Given the description of an element on the screen output the (x, y) to click on. 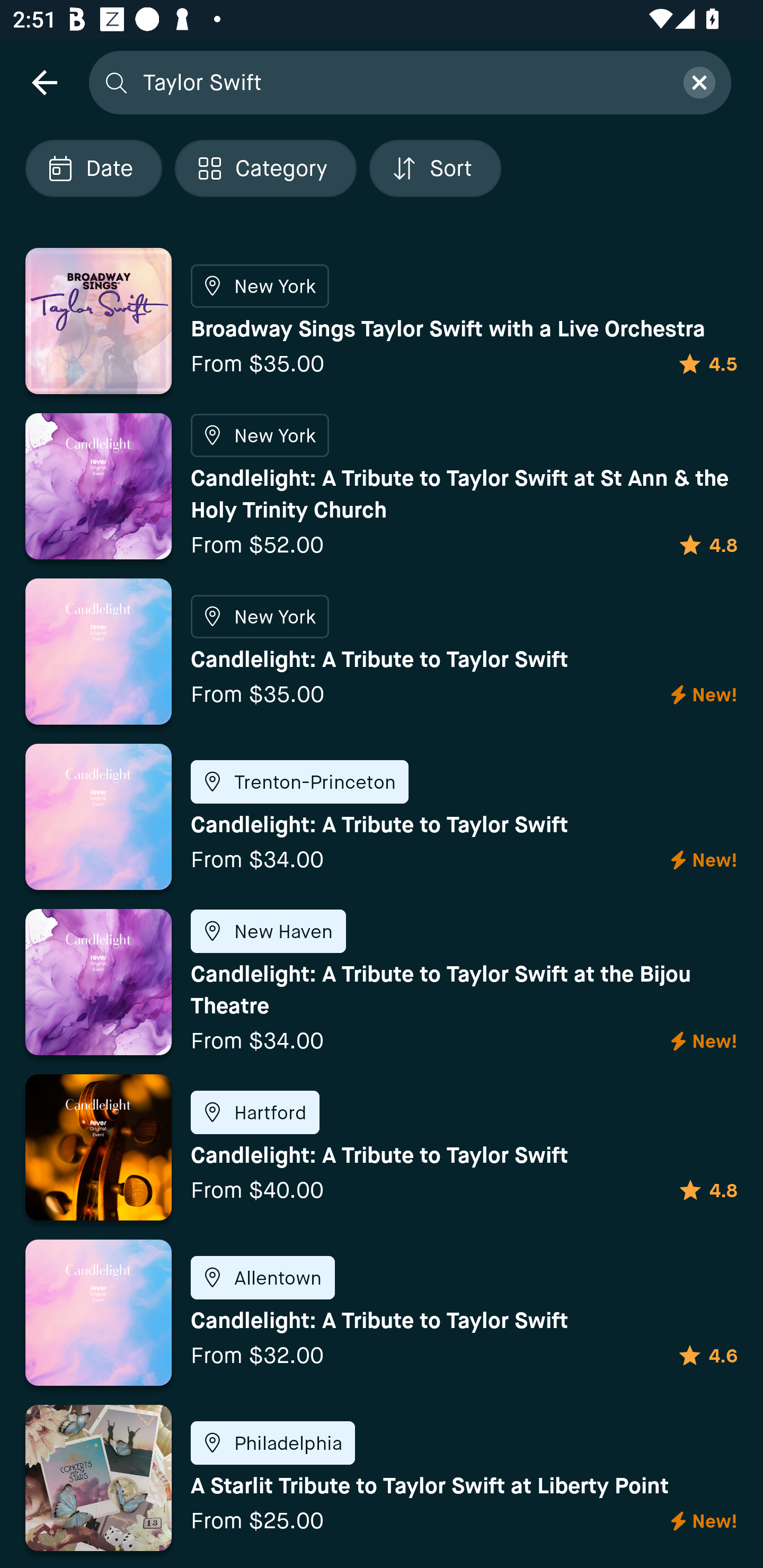
navigation icon (44, 81)
Taylor Swift (402, 81)
Localized description Date (93, 168)
Localized description Category (265, 168)
Localized description Sort (435, 168)
